Given the description of an element on the screen output the (x, y) to click on. 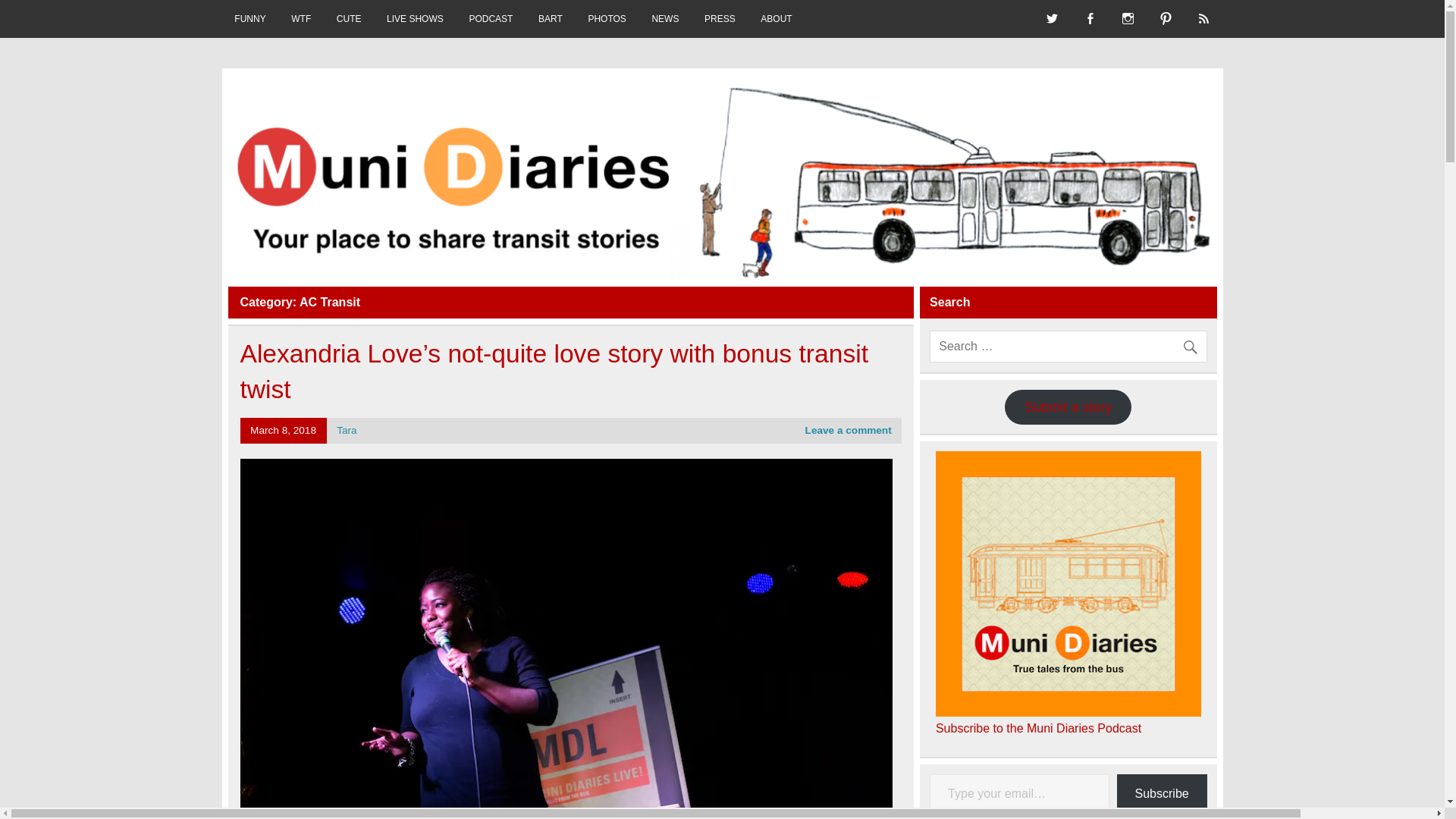
BART (550, 18)
PRESS (719, 18)
Leave a comment (848, 430)
NEWS (666, 18)
March 8, 2018 (282, 430)
LIVE SHOWS (414, 18)
9:04 am (282, 430)
WTF (300, 18)
PODCAST (491, 18)
PHOTOS (607, 18)
